Given the description of an element on the screen output the (x, y) to click on. 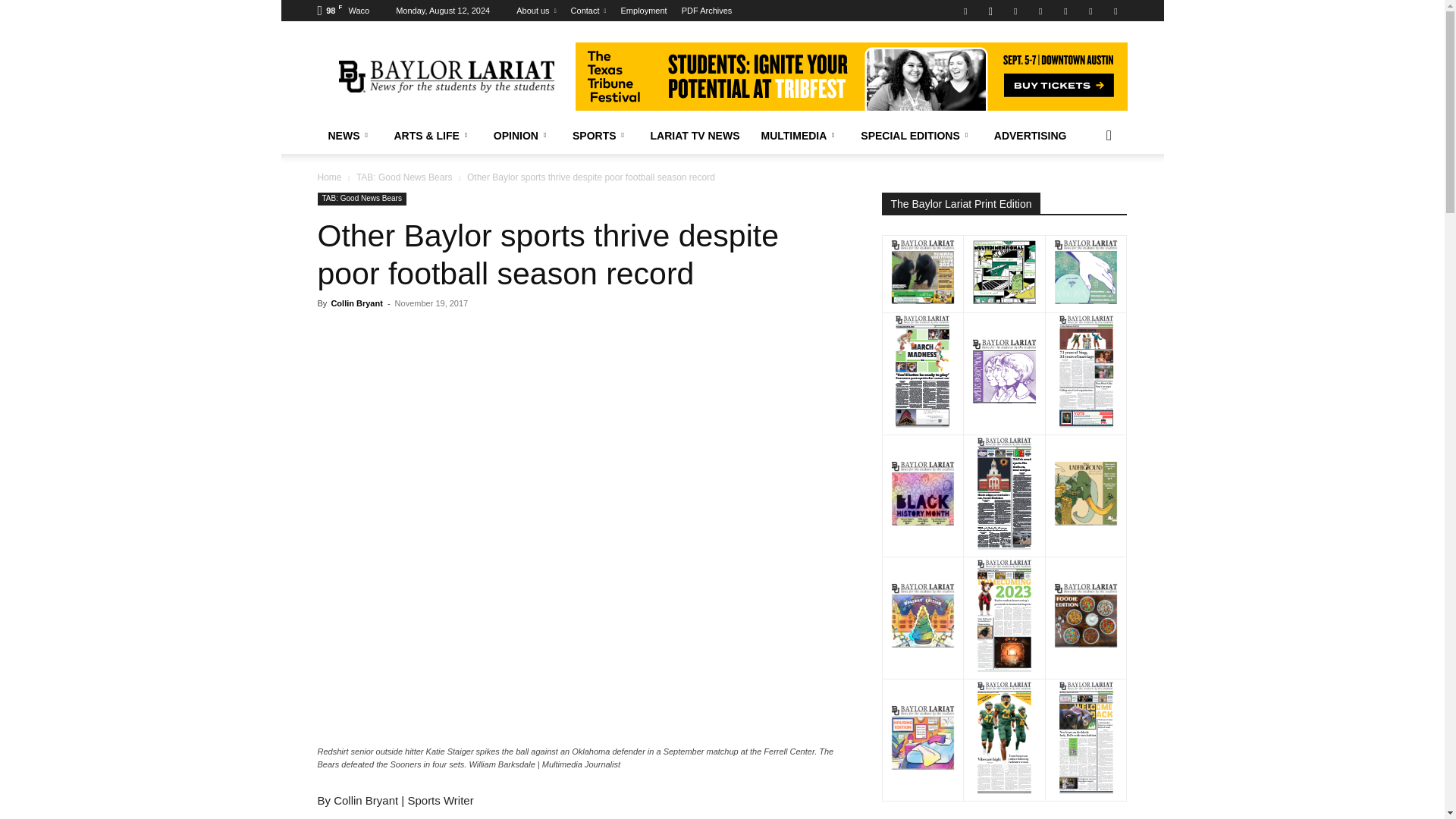
Instagram (989, 10)
Facebook (964, 10)
Linkedin (1015, 10)
Student Employment (643, 10)
Contact the Lariat (588, 10)
